Given the description of an element on the screen output the (x, y) to click on. 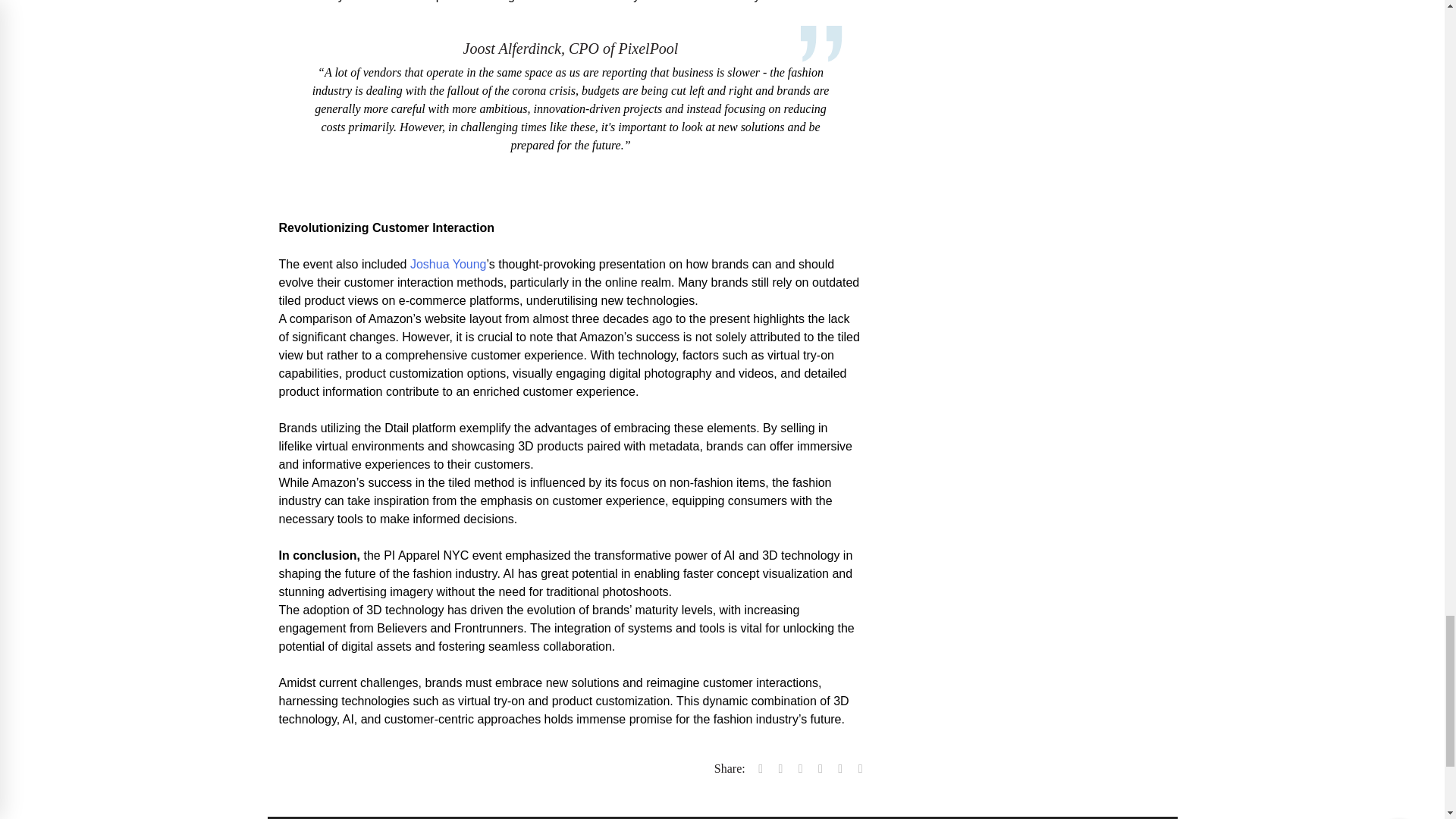
Joshua Young (448, 264)
